Given the description of an element on the screen output the (x, y) to click on. 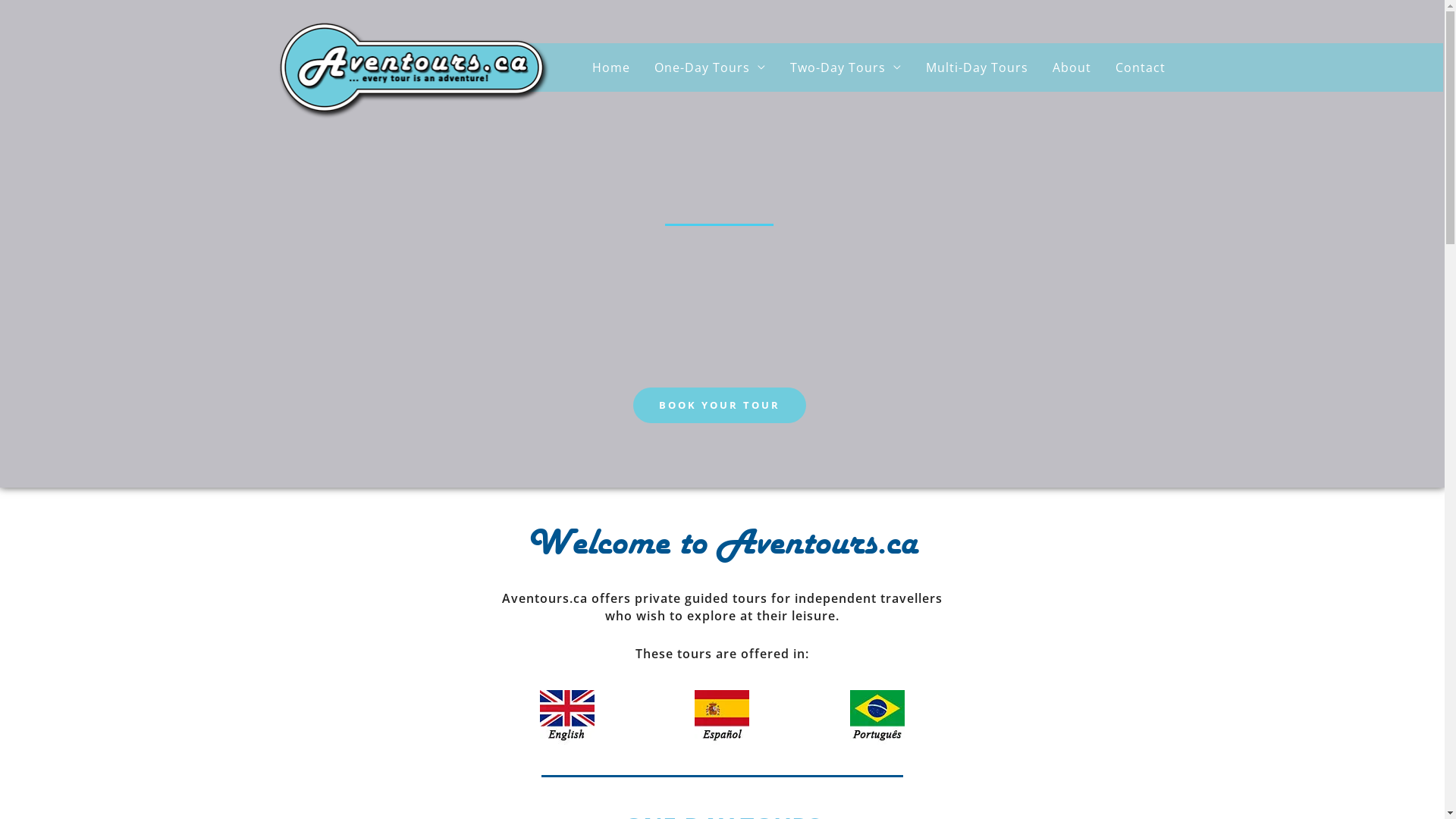
Multi-Day Tours Element type: text (976, 67)
Flag-Spain Element type: hover (721, 717)
One-Day Tours Element type: text (709, 67)
BOOK YOUR TOUR Element type: text (719, 404)
Home Element type: text (610, 67)
Contact Element type: text (1139, 67)
Two-Day Tours Element type: text (845, 67)
About Element type: text (1071, 67)
